Given the description of an element on the screen output the (x, y) to click on. 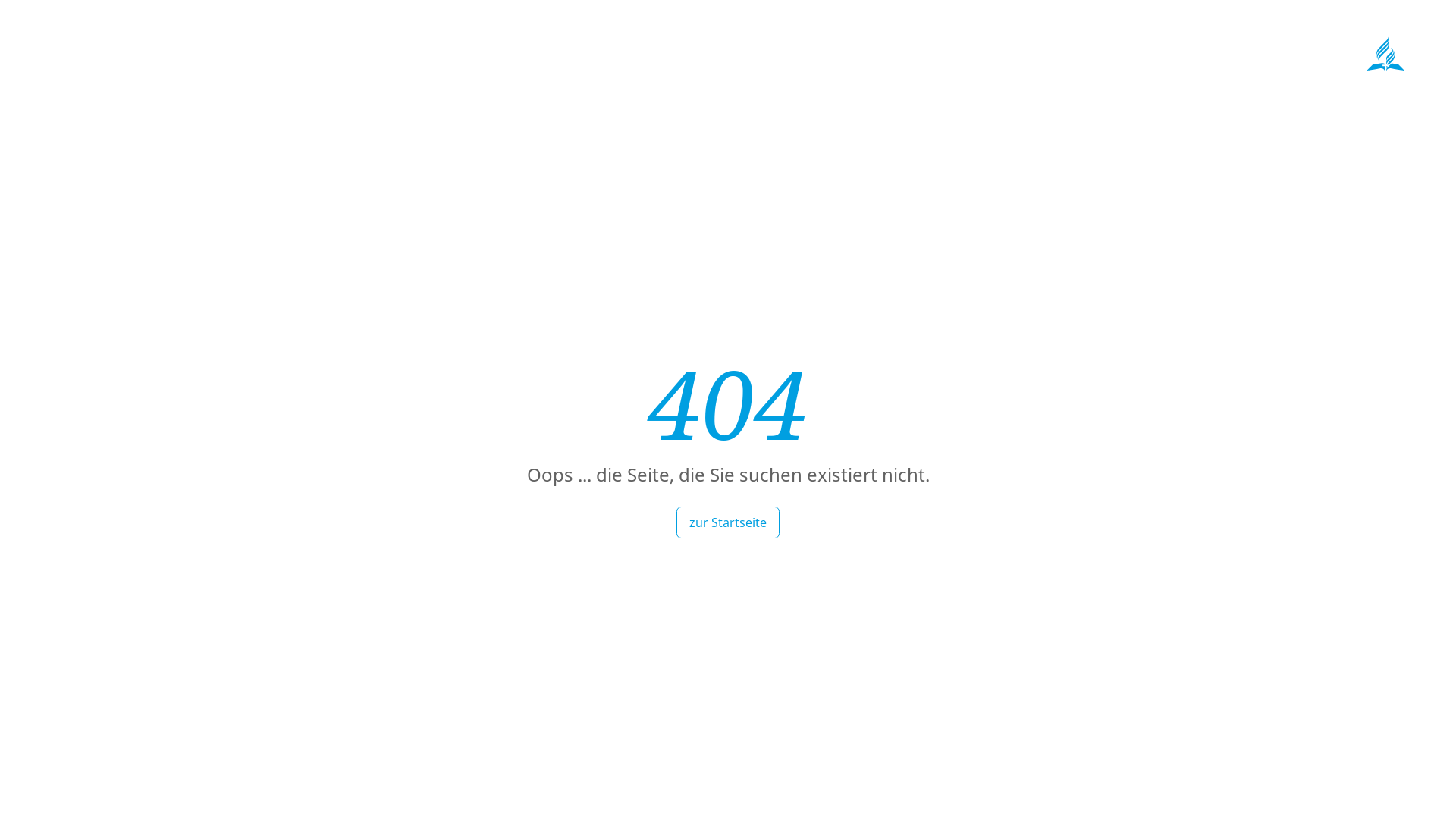
zur Startseite Element type: text (727, 522)
Adventgemeinde | Element type: text (799, 40)
Angebote Element type: text (1197, 77)
Kontakt Element type: text (1270, 77)
Unsere Kirche Element type: text (1108, 77)
